Given the description of an element on the screen output the (x, y) to click on. 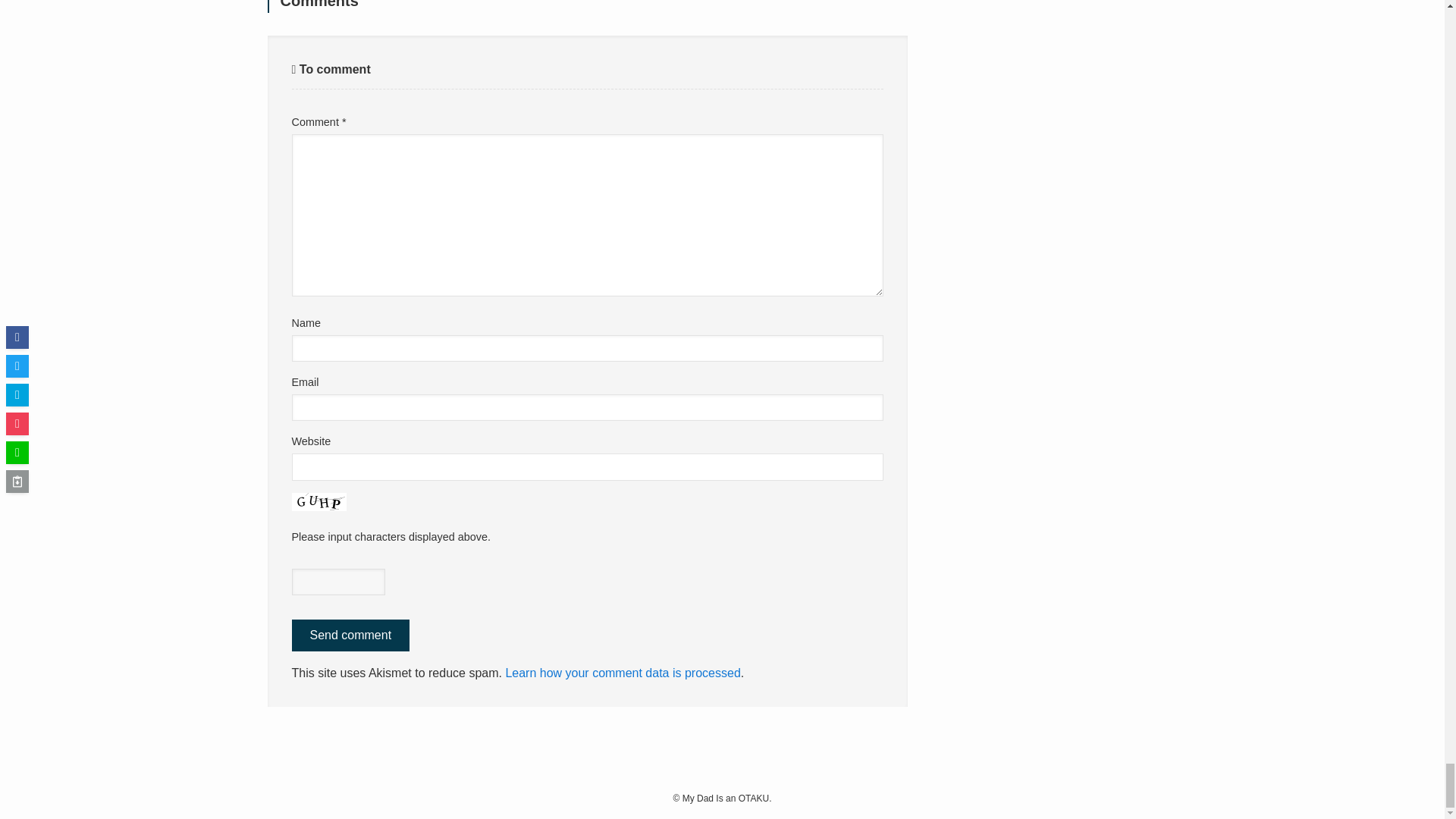
Send comment (350, 635)
